Given the description of an element on the screen output the (x, y) to click on. 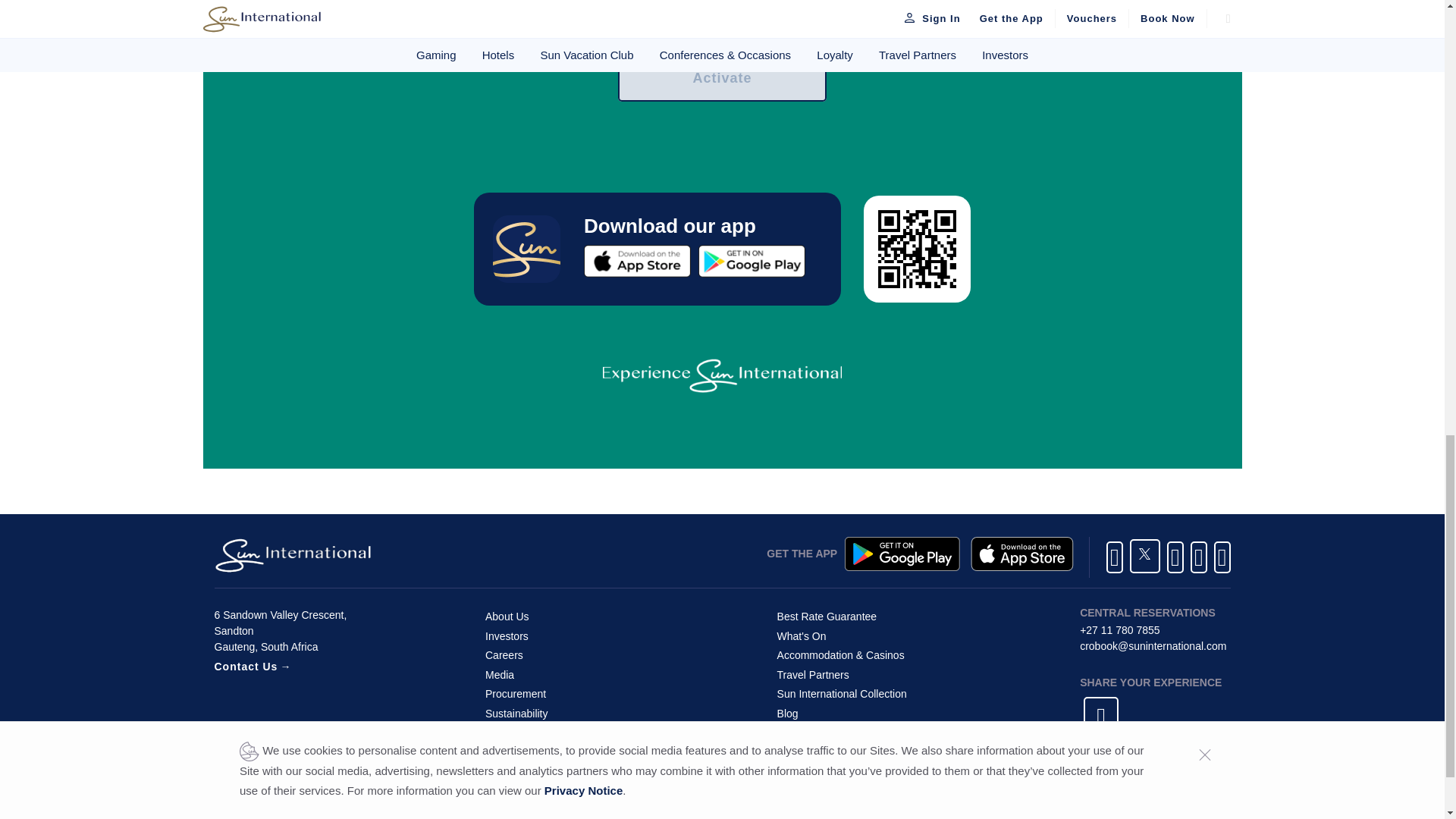
Travel Partners (812, 675)
About Us (506, 616)
Sun International Blog (787, 712)
Sustainability (516, 712)
Investors (506, 635)
Share Your Experience on Sun Share (1099, 718)
The Sunlux Collection (842, 694)
Procurement (515, 694)
aml-ctf-statement (533, 732)
Best Rate Guarantee (827, 616)
